Given the description of an element on the screen output the (x, y) to click on. 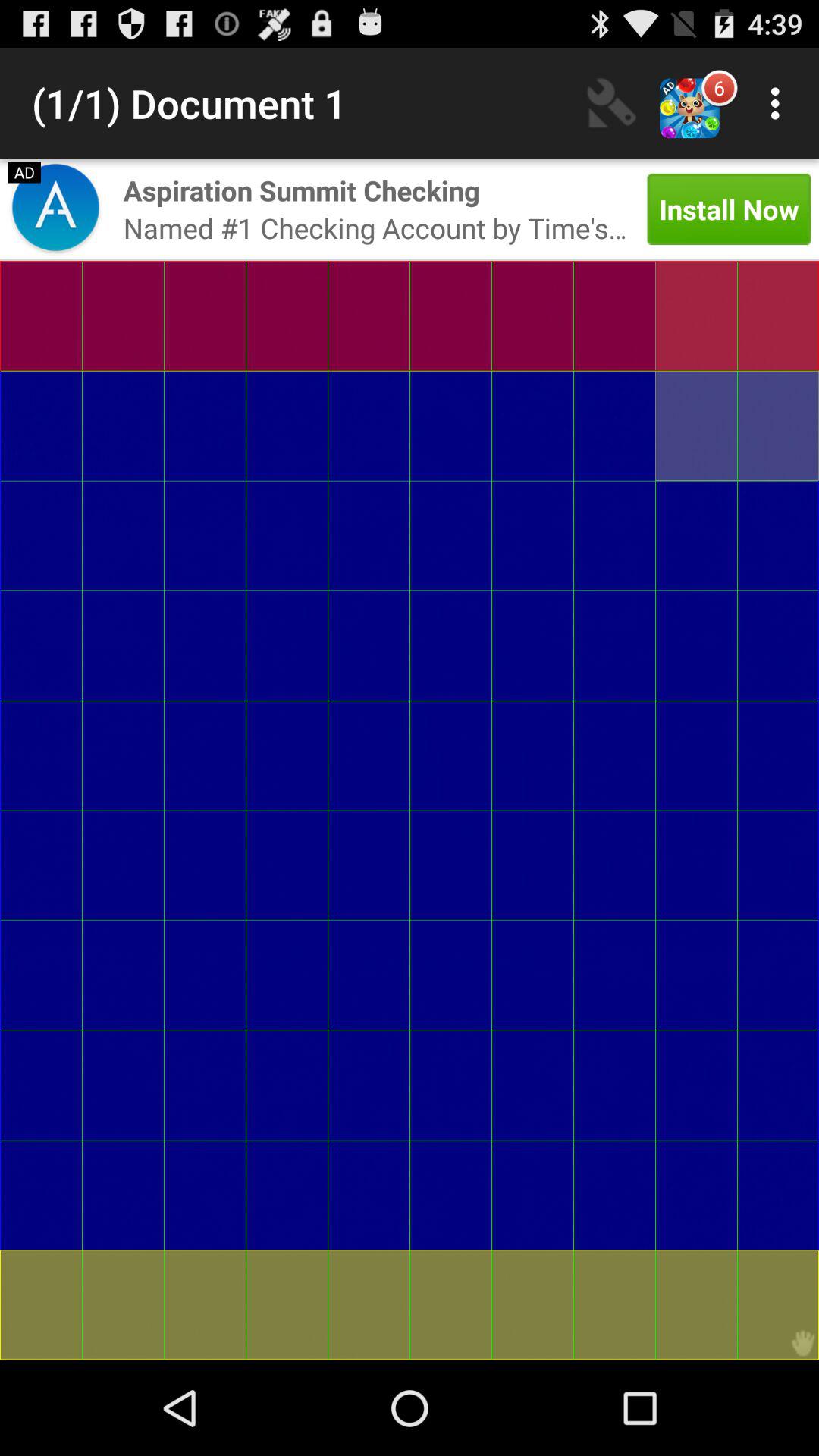
open advertisement (55, 209)
